Given the description of an element on the screen output the (x, y) to click on. 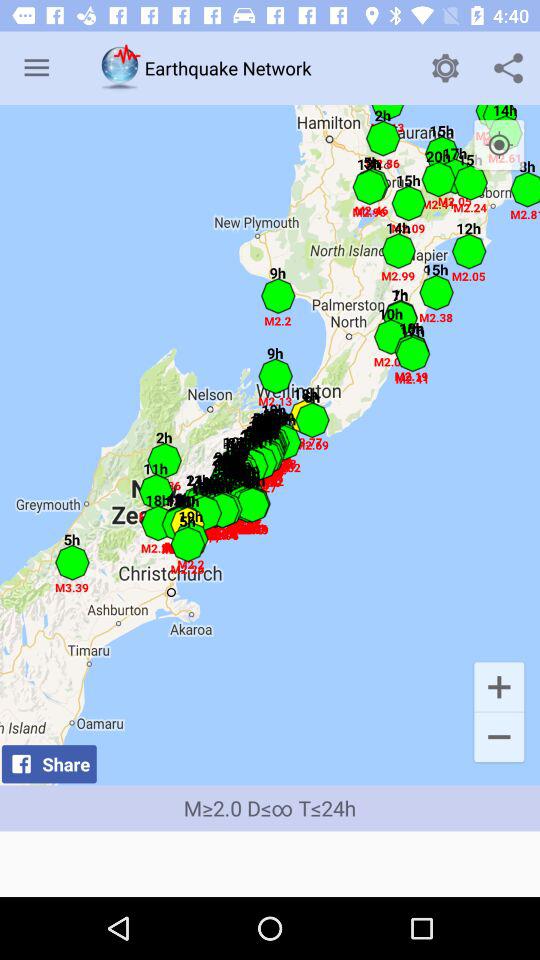
jump until the m 2 0 icon (270, 808)
